Given the description of an element on the screen output the (x, y) to click on. 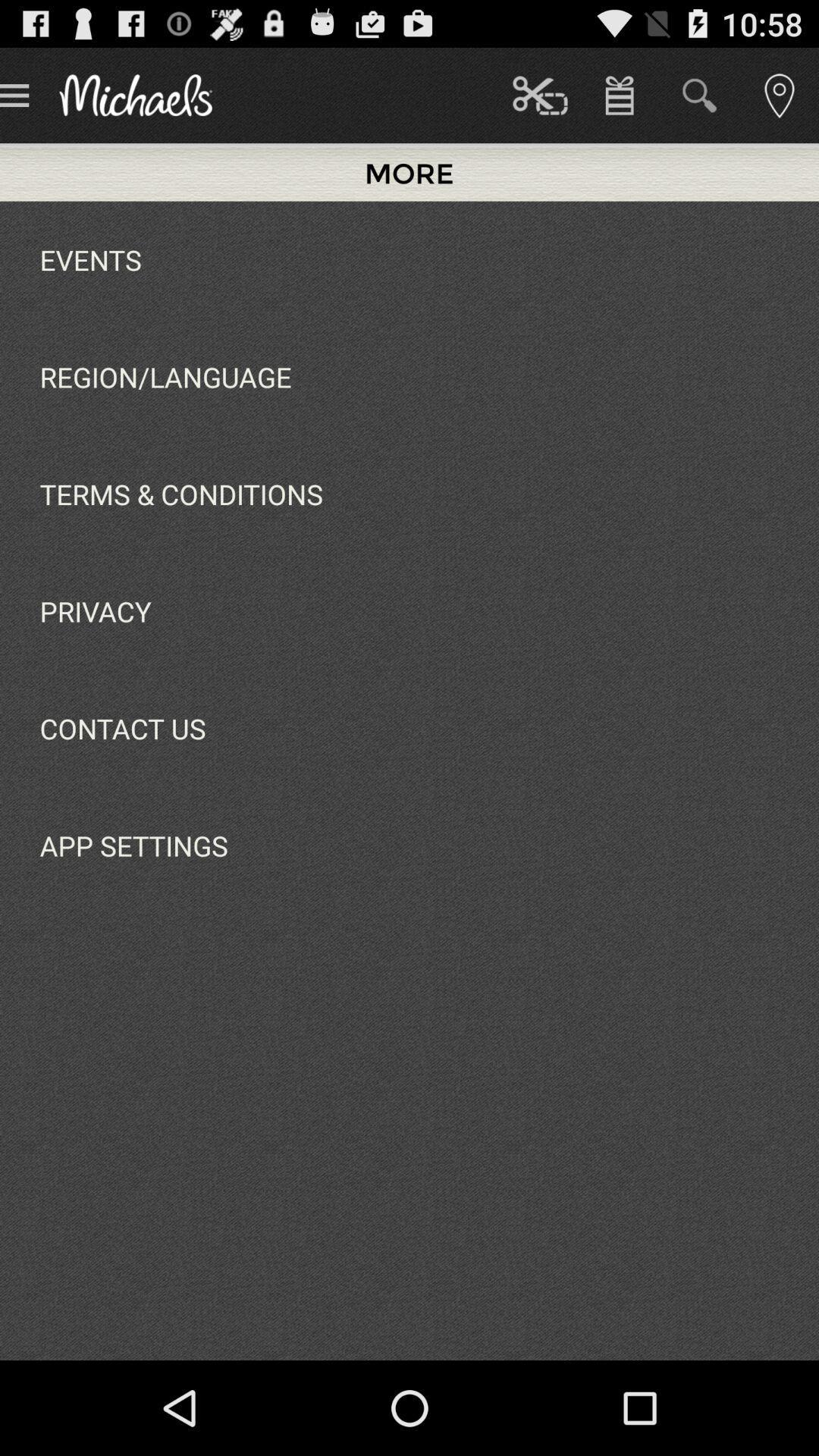
press app settings app (133, 845)
